Given the description of an element on the screen output the (x, y) to click on. 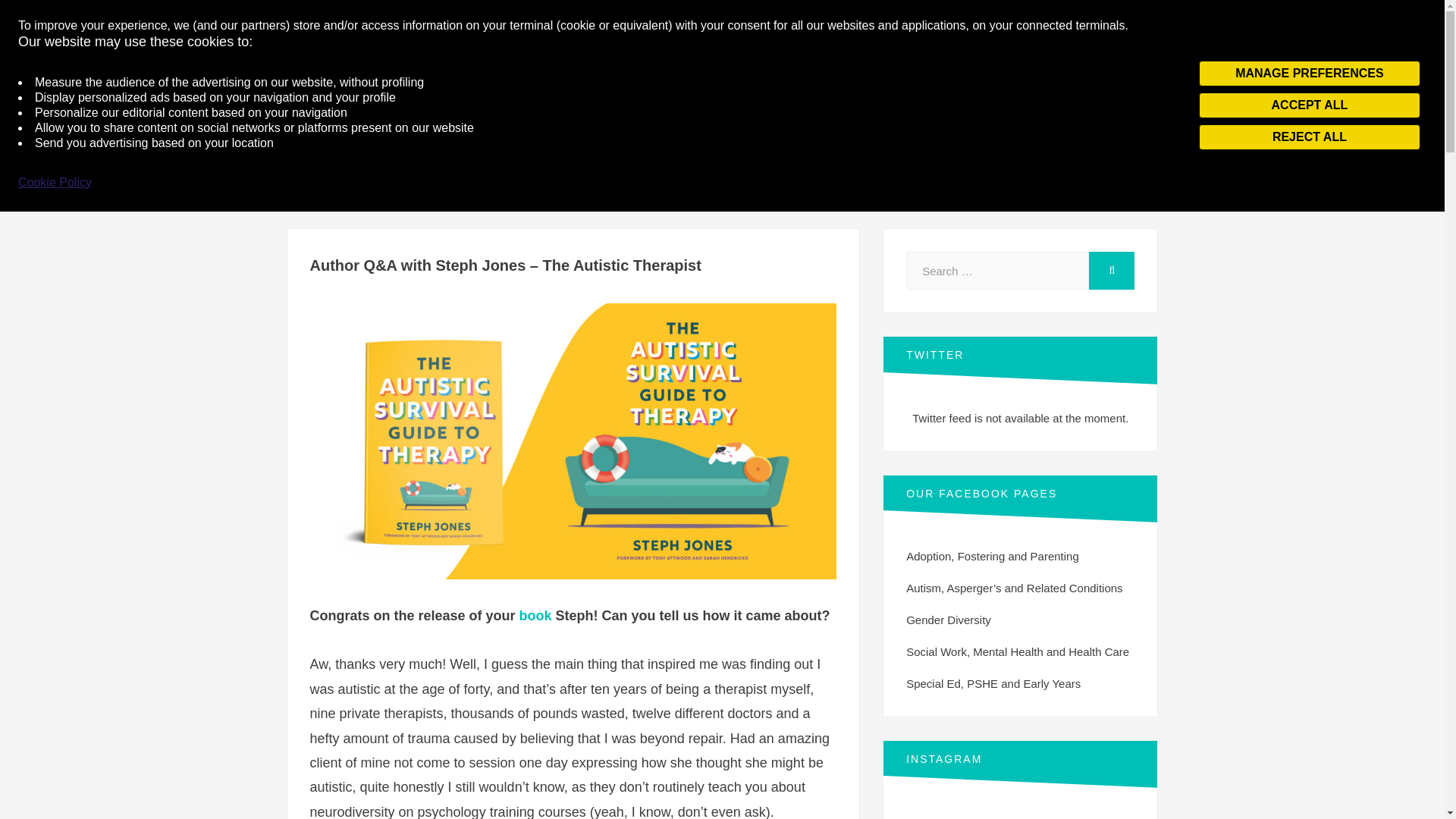
JKP MAIN WEBSITE (440, 152)
Search for: (997, 270)
MANAGE PREFERENCES (1309, 73)
EDUCATION (1112, 152)
ARTS THERAPIES (733, 152)
DEMENTIA (1028, 152)
book (535, 615)
JKP NEWS AND EVENTS (642, 171)
GENDER DIVERSITY (502, 171)
ACCEPT ALL (1309, 104)
Cookie Policy (54, 181)
SOCIAL WORK (955, 171)
ADOPTION AND FOSTERING (589, 152)
REJECT ALL (1309, 136)
RELIGION (867, 171)
